Given the description of an element on the screen output the (x, y) to click on. 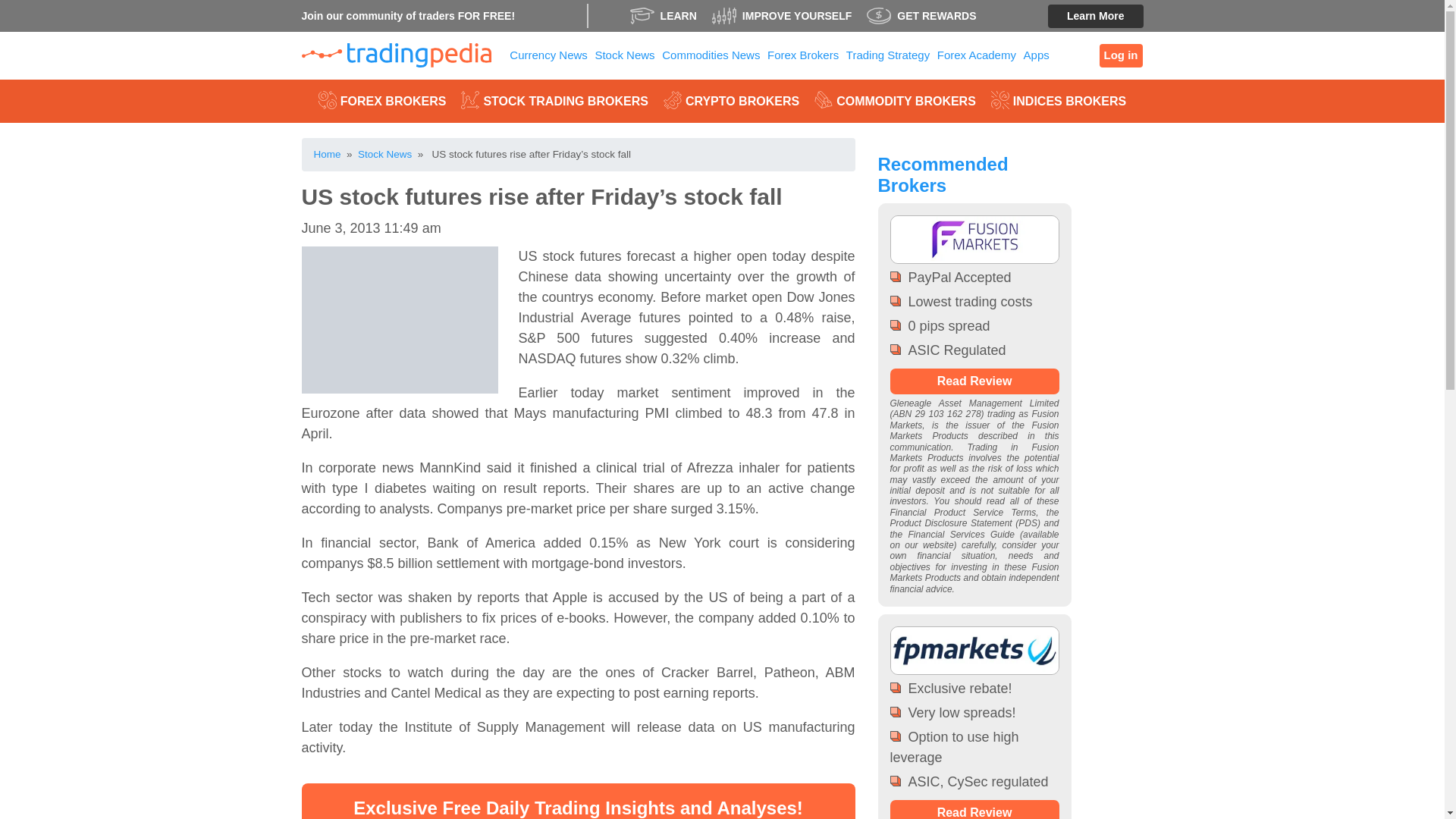
Apps (1036, 55)
Currency News (548, 55)
STOCK TRADING BROKERS (554, 100)
Stock News (625, 55)
Academy Login (1120, 55)
Forex Academy (976, 55)
FOREX BROKERS (382, 100)
Forex Academy (976, 55)
Forex Brokers (802, 55)
Trading Strategy (888, 55)
